Given the description of an element on the screen output the (x, y) to click on. 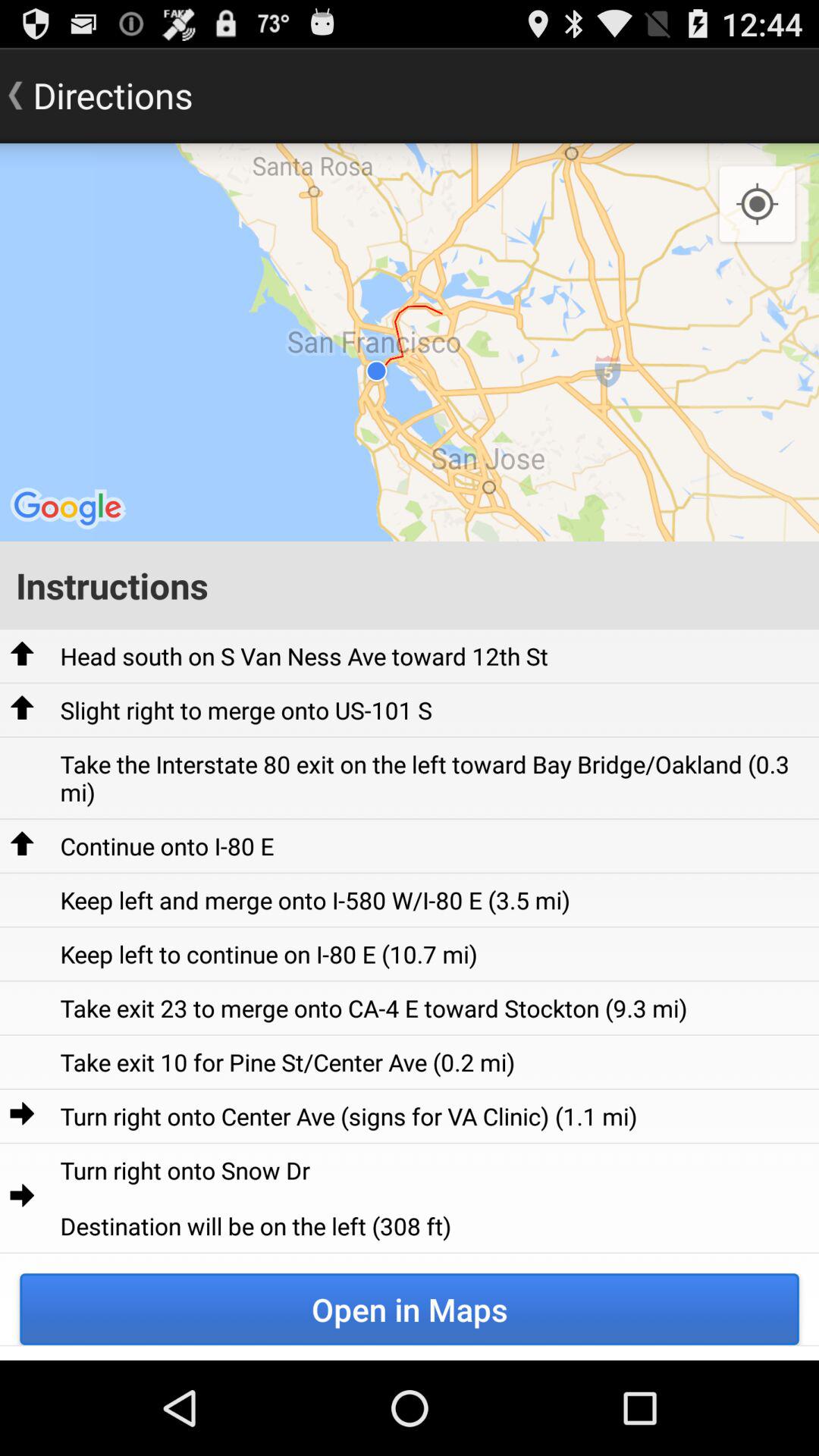
scroll to slight right to item (246, 709)
